Given the description of an element on the screen output the (x, y) to click on. 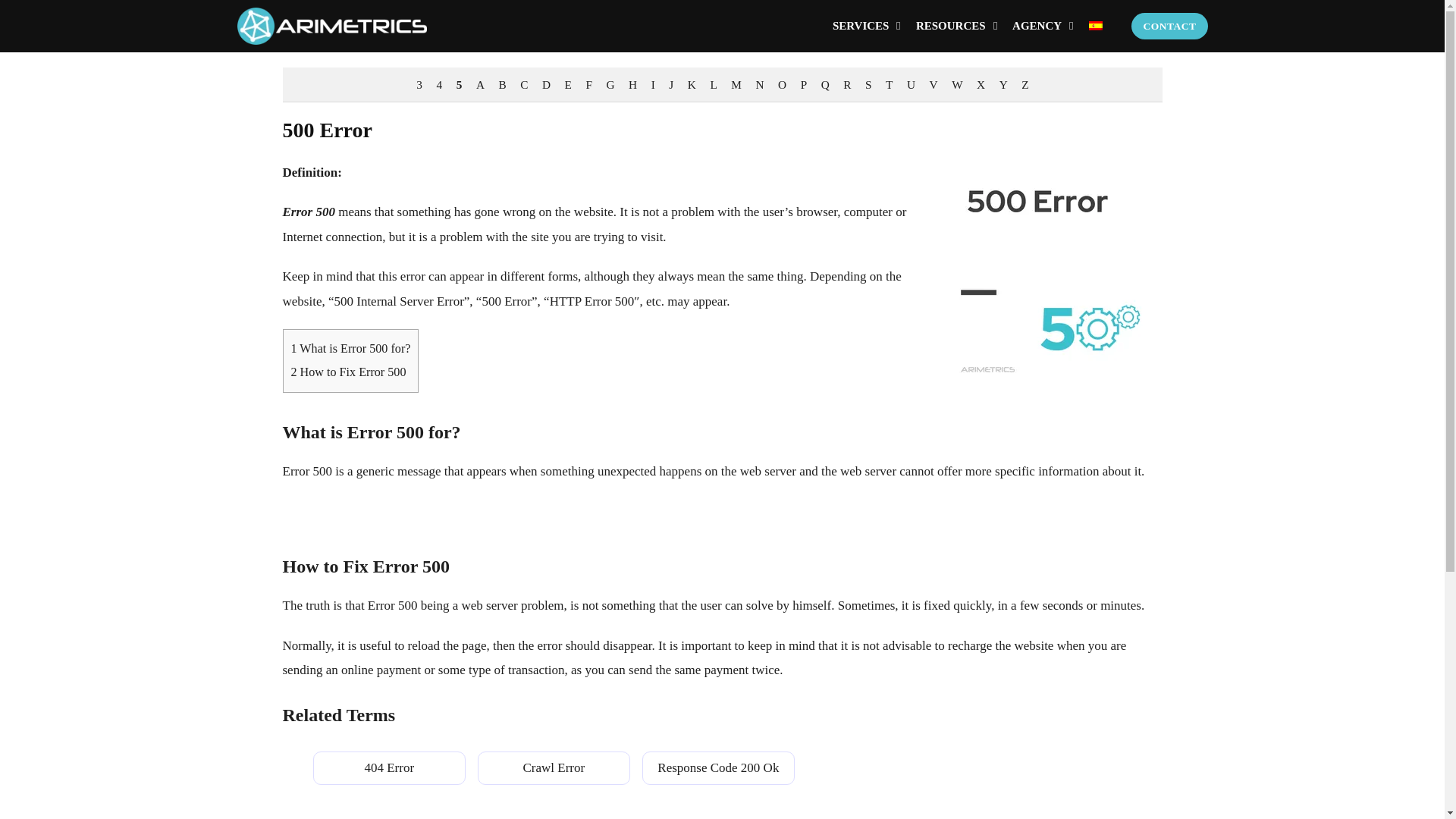
CONTACT (1169, 26)
AGENCY (1036, 25)
RESOURCES (950, 25)
SERVICES (860, 25)
